Given the description of an element on the screen output the (x, y) to click on. 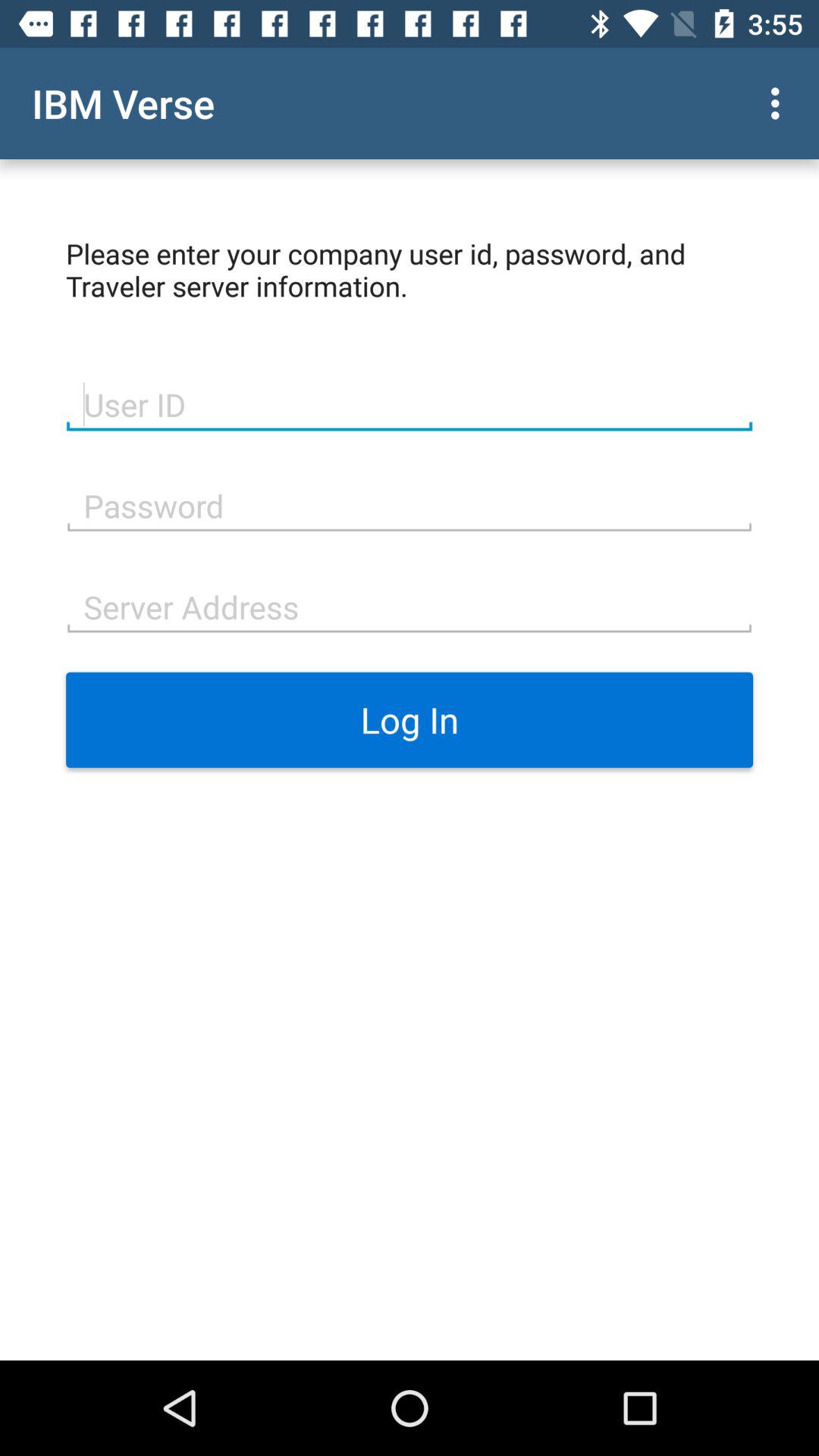
tap icon below please enter your (409, 402)
